Given the description of an element on the screen output the (x, y) to click on. 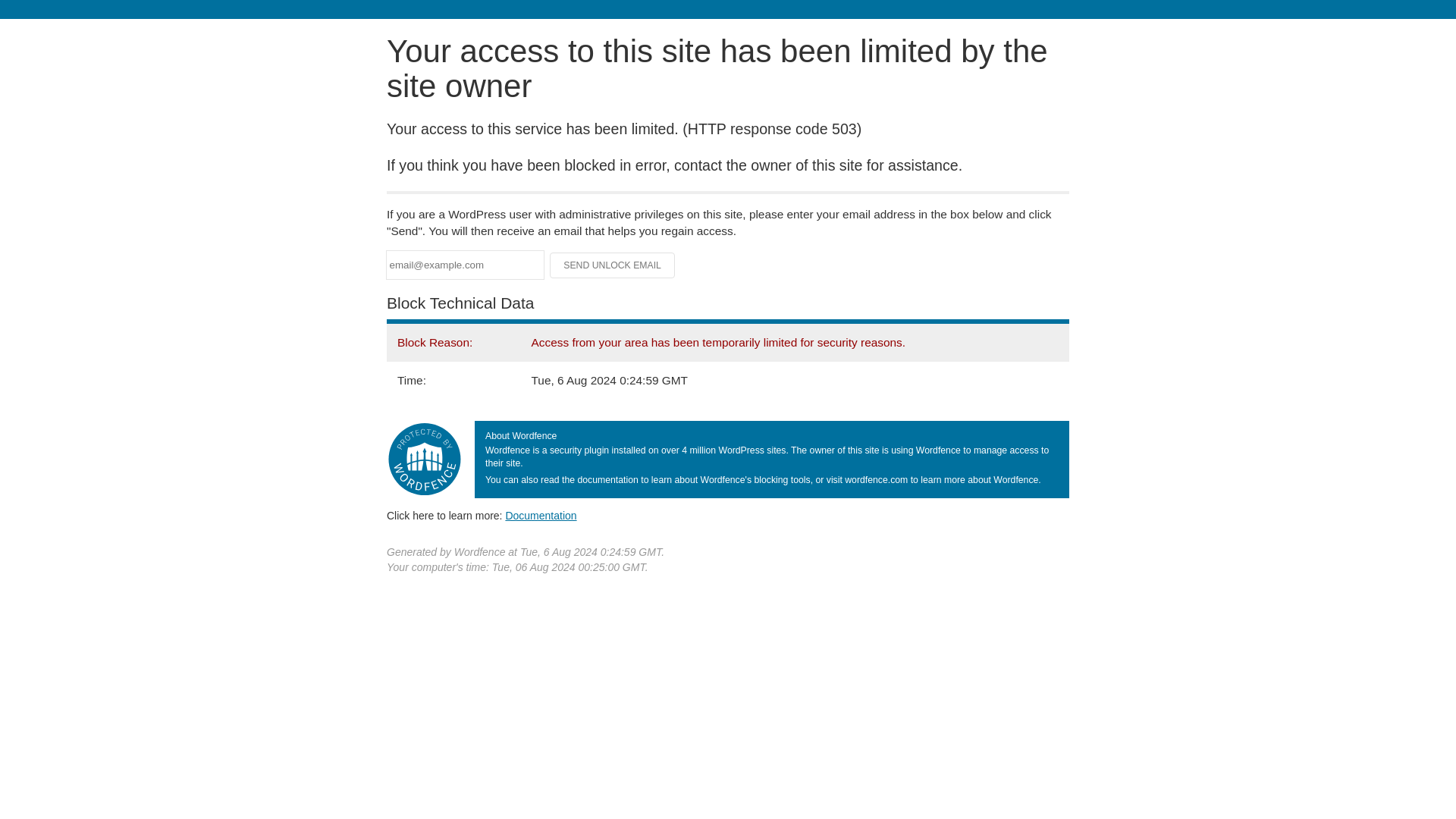
Send Unlock Email (612, 265)
Send Unlock Email (612, 265)
Documentation (540, 515)
